Given the description of an element on the screen output the (x, y) to click on. 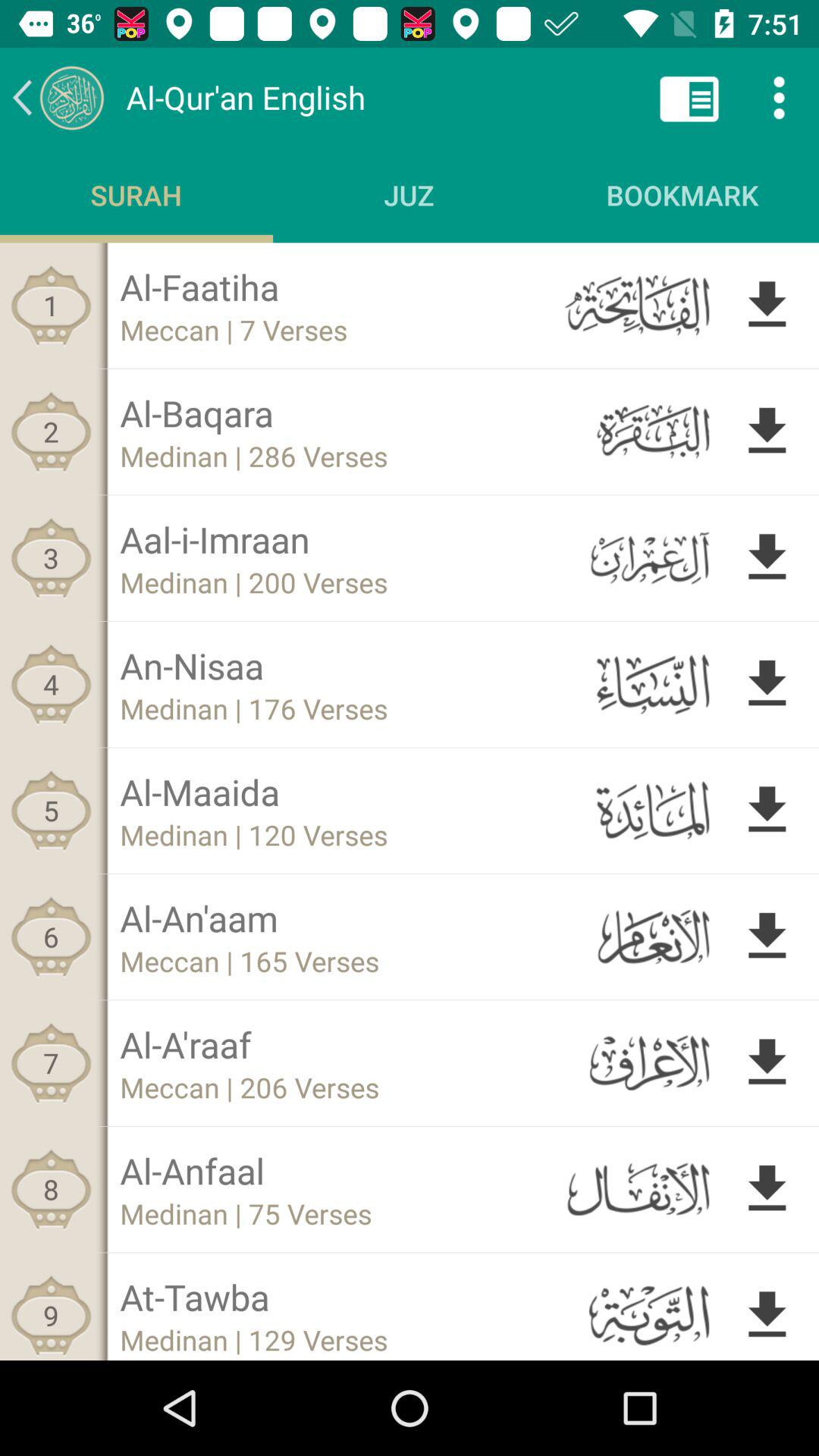
donwood (767, 810)
